Given the description of an element on the screen output the (x, y) to click on. 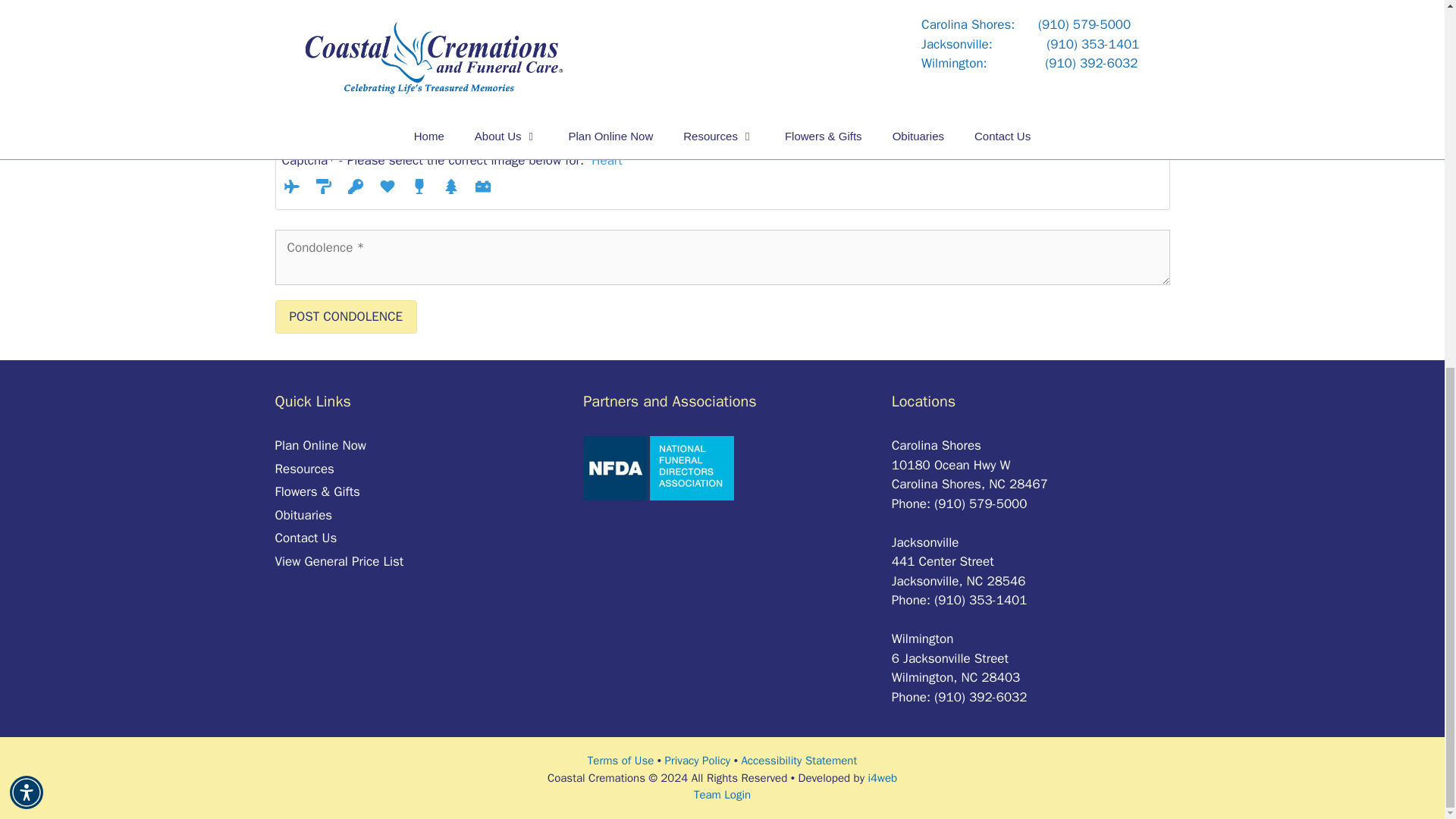
Post Condolence (345, 315)
Contact Us (305, 537)
Accessibility Menu (26, 128)
Terms of Use (620, 760)
View General Price List (339, 560)
Resources (304, 467)
Obituaries (303, 514)
Post Condolence (345, 315)
Plan Online Now (320, 445)
